Given the description of an element on the screen output the (x, y) to click on. 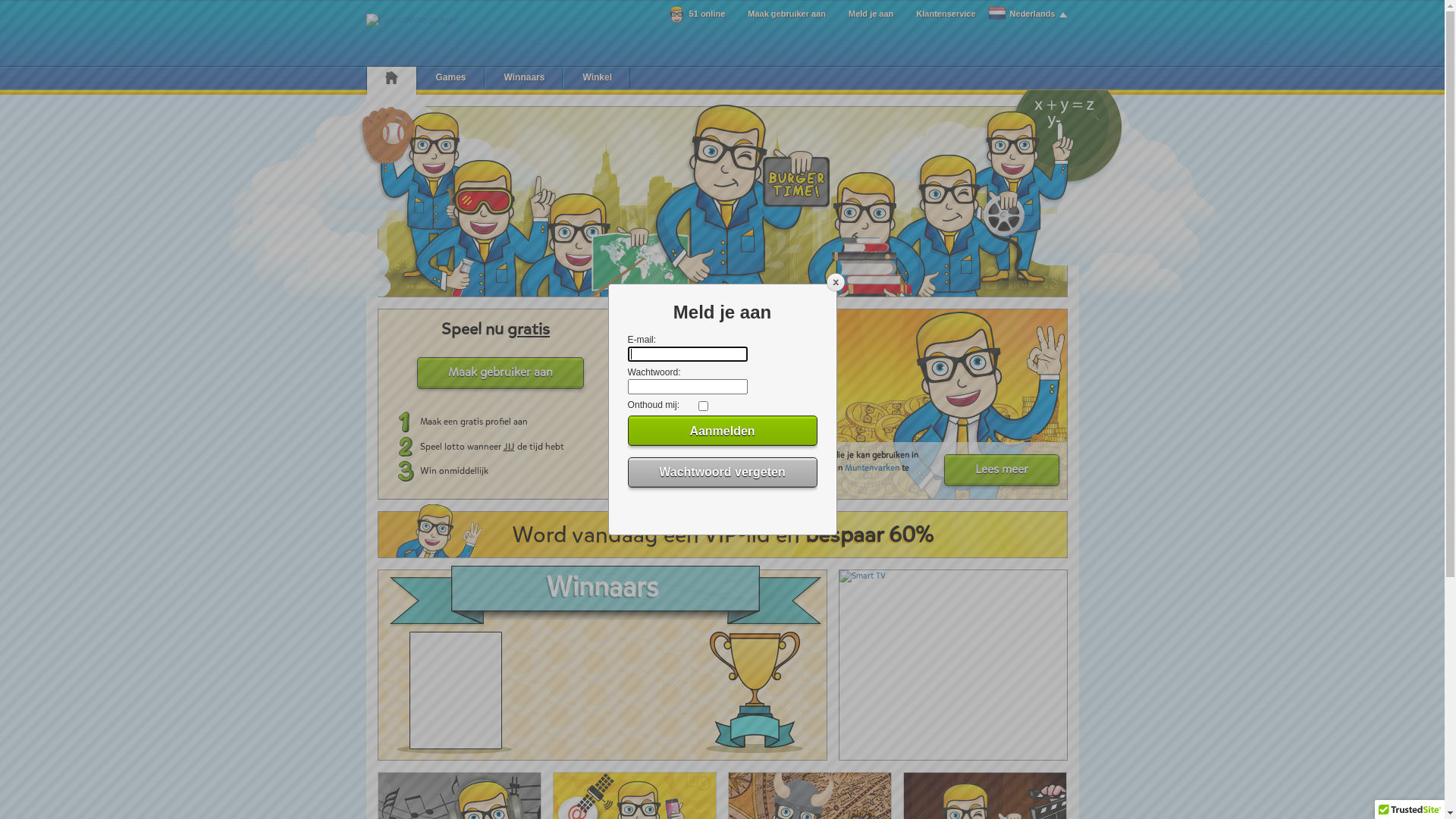
Winnaars Element type: text (602, 664)
  Element type: text (390, 76)
Sluit venster Element type: hover (835, 288)
Ga naar slide #1 Element type: hover (635, 330)
De winkel Element type: text (646, 455)
Ga naar de banner Element type: hover (861, 575)
Winkel Element type: text (596, 76)
Word vandaag een VIP-lid en bespaar 60% Element type: text (722, 534)
Maak gebruiker aan Element type: text (786, 13)
Home Element type: hover (410, 19)
Maak gebruiker aan Element type: text (500, 373)
Aanmelden Element type: text (722, 430)
Nederlands
  Element type: text (1027, 14)
Winnaars Element type: text (524, 76)
Games Element type: hover (721, 201)
Ga naar slide #2 Element type: hover (660, 330)
Games Element type: text (451, 76)
Lees meer Element type: text (1000, 470)
Home Element type: hover (390, 76)
  Element type: text (721, 201)
Meld je aan Element type: text (870, 13)
Klantenservice Element type: text (945, 13)
Wachtwoord vergeten Element type: text (722, 472)
